Given the description of an element on the screen output the (x, y) to click on. 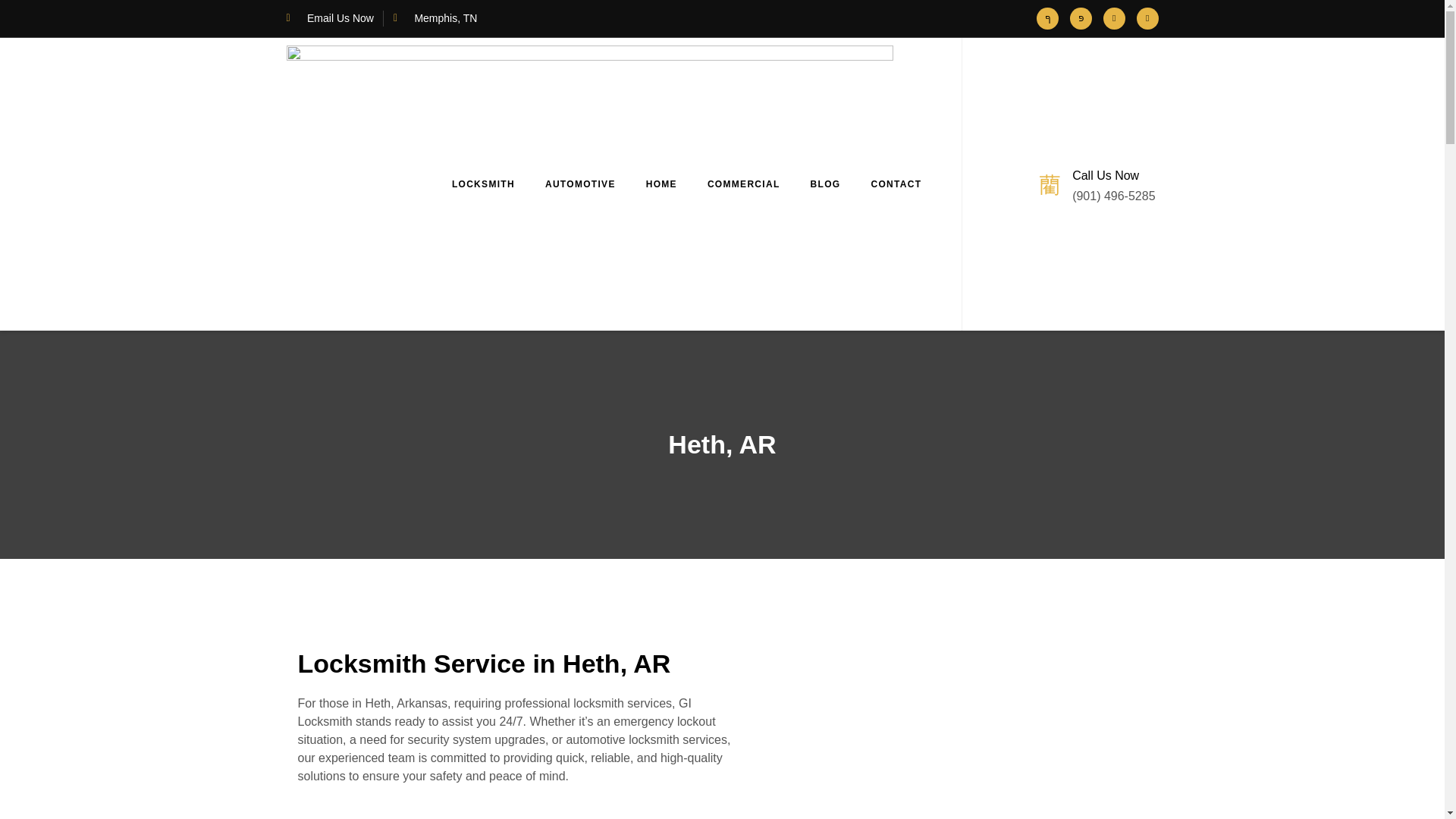
COMMERCIAL (743, 184)
HOME (661, 184)
LOCKSMITH (482, 184)
AUTOMOTIVE (579, 184)
Email Us Now (330, 18)
